Given the description of an element on the screen output the (x, y) to click on. 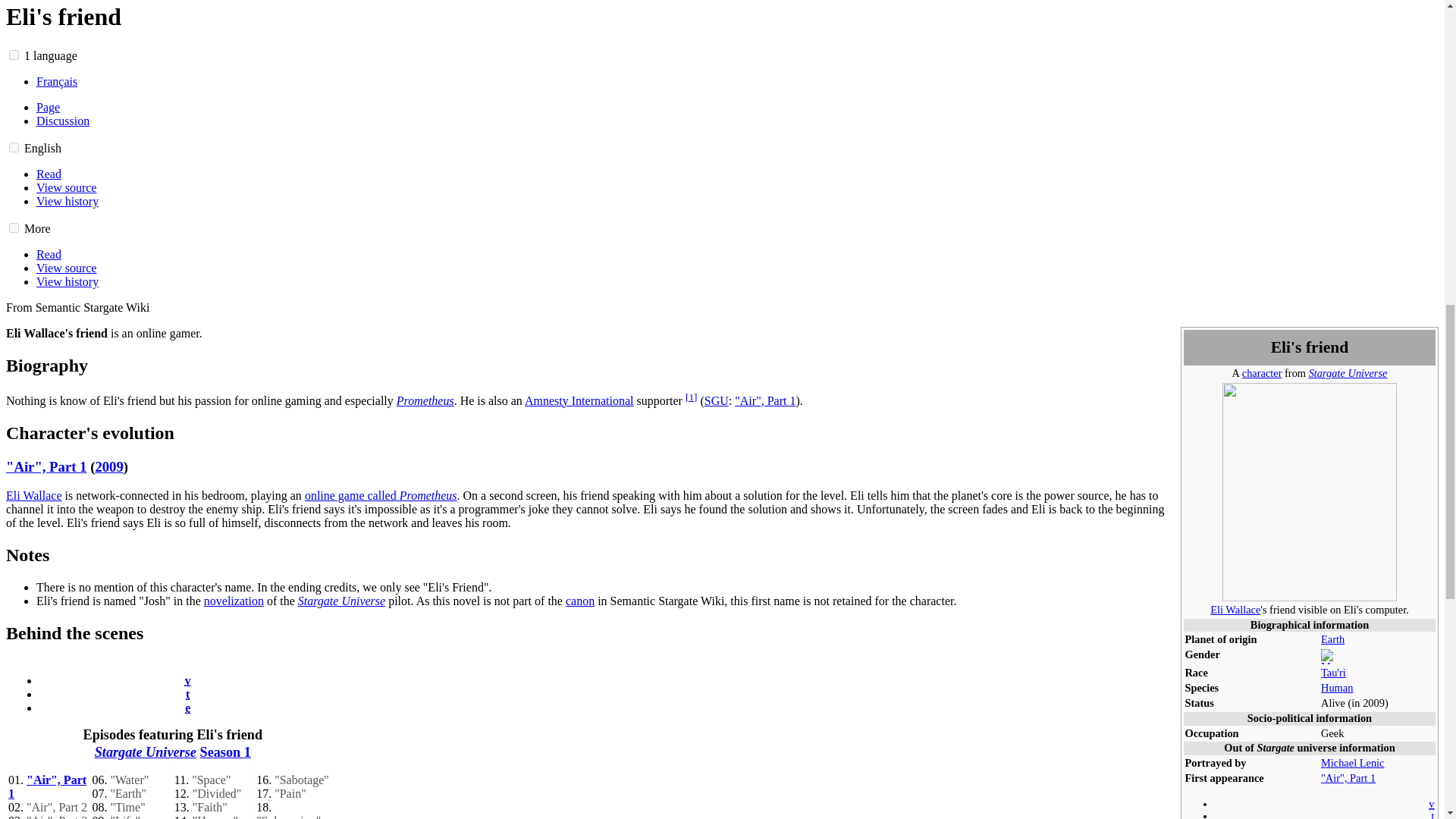
on (13, 54)
Page (47, 106)
on (13, 227)
Discussion (62, 120)
on (13, 147)
Read (48, 173)
